Given the description of an element on the screen output the (x, y) to click on. 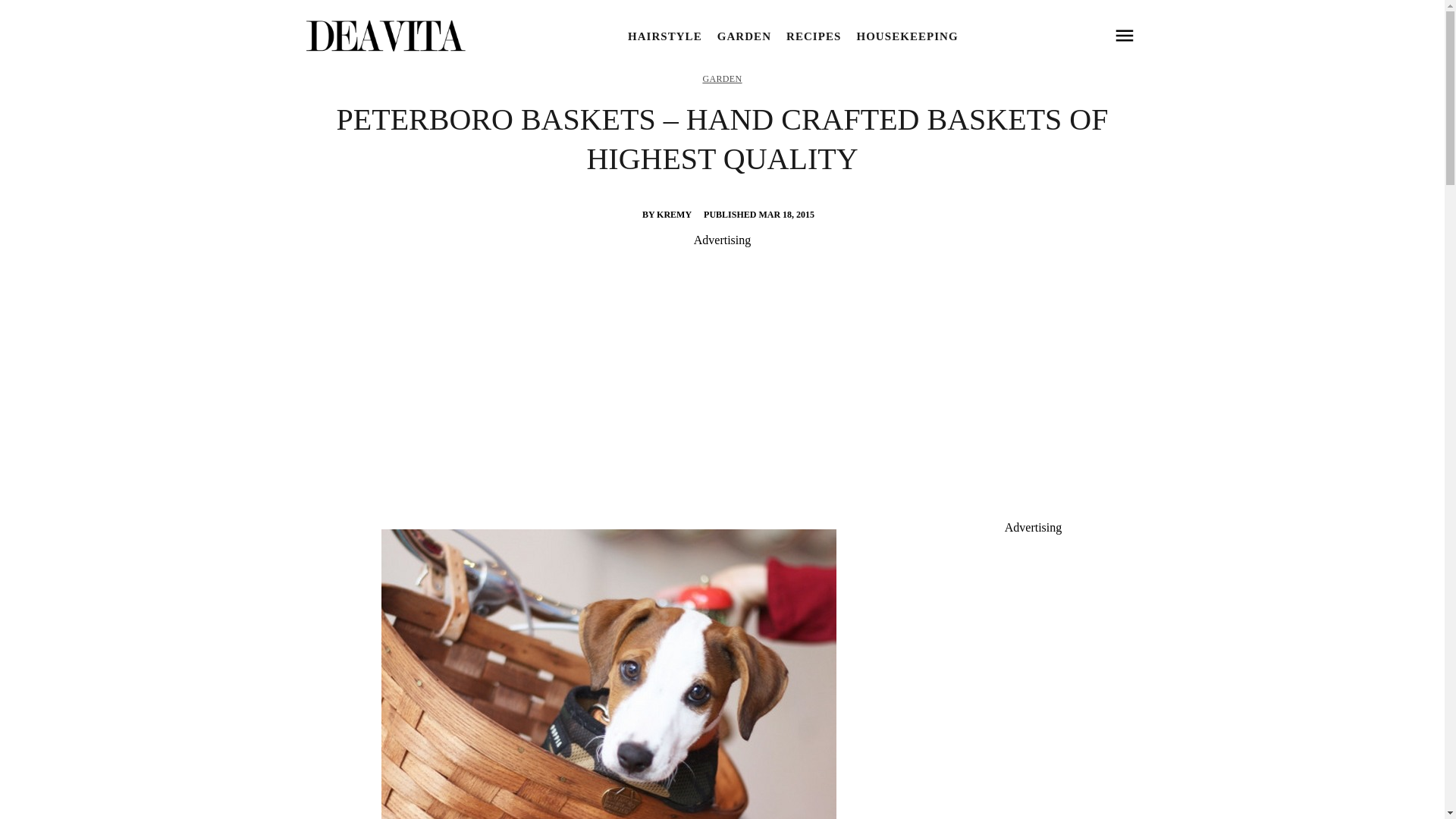
open menu (1124, 36)
HAIRSTYLE (664, 36)
Deavita (383, 36)
HOUSEKEEPING (907, 36)
GARDEN (744, 36)
RECIPES (813, 36)
